Given the description of an element on the screen output the (x, y) to click on. 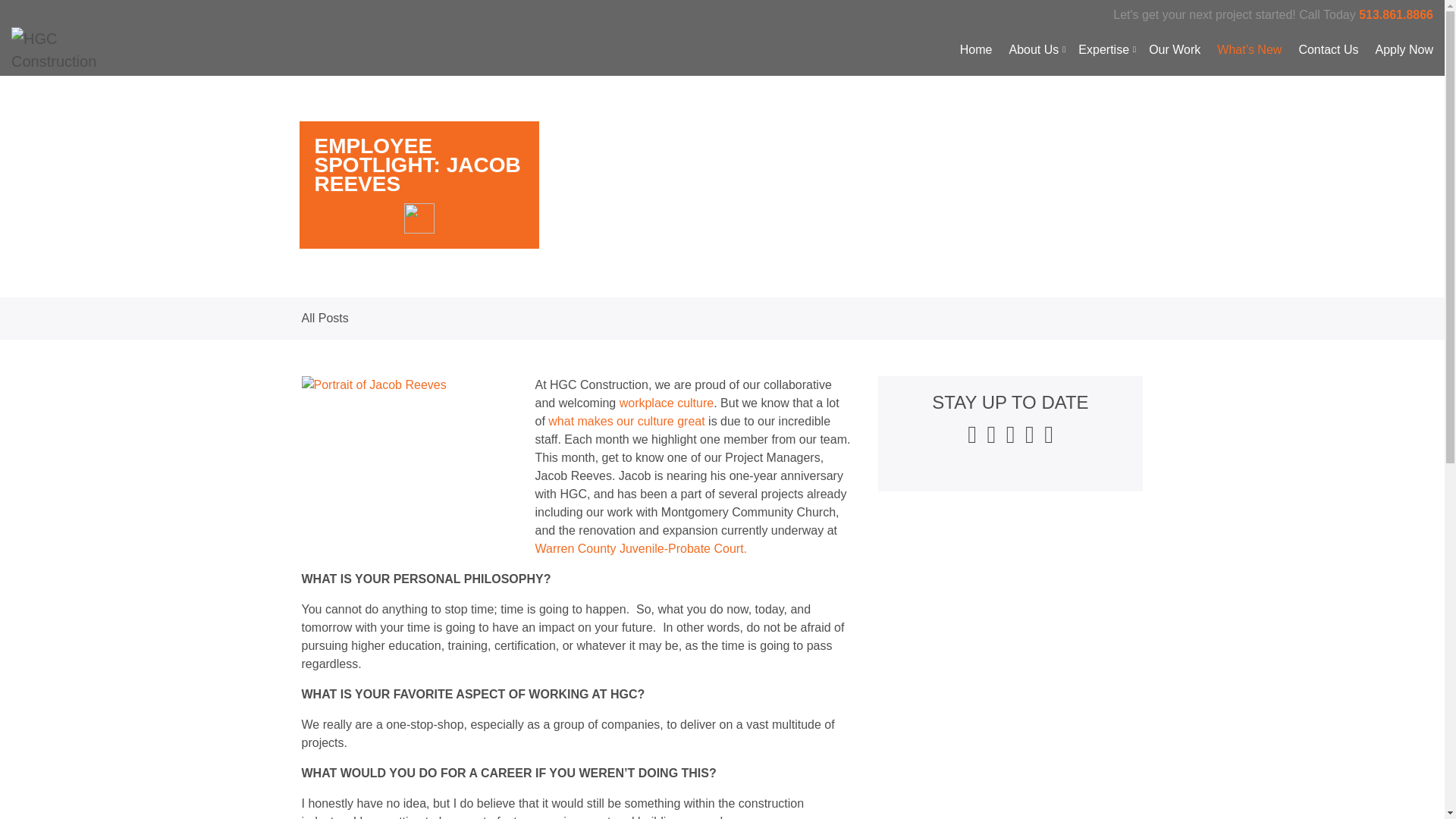
Expertise (1105, 50)
Warren County Juvenile-Probate Court. (641, 548)
what makes our culture great (626, 420)
Our Work (1173, 50)
All Posts (325, 318)
workplace culture (667, 402)
513.861.8866 (1395, 14)
About Us (1035, 50)
HGC Construction (65, 50)
Home (975, 50)
Contact Us (1328, 50)
Apply Now (1403, 50)
